Given the description of an element on the screen output the (x, y) to click on. 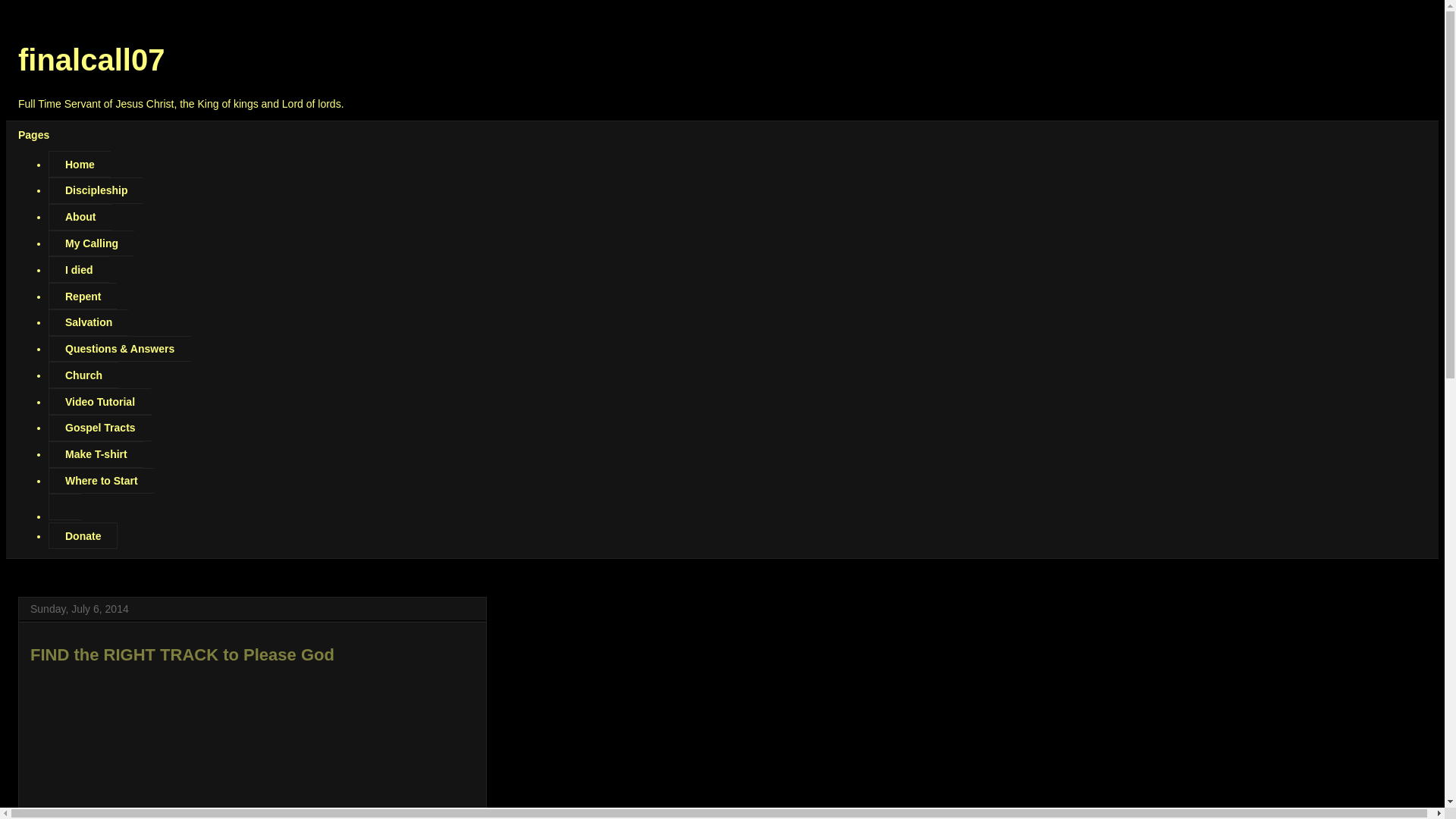
Make T-shirt (95, 454)
Video Tutorial (99, 401)
Where to Start (101, 480)
I died (78, 269)
My Calling (90, 243)
Home (79, 163)
Gospel Tracts (99, 427)
Salvation (88, 322)
Discipleship (95, 190)
Donate (82, 535)
